Given the description of an element on the screen output the (x, y) to click on. 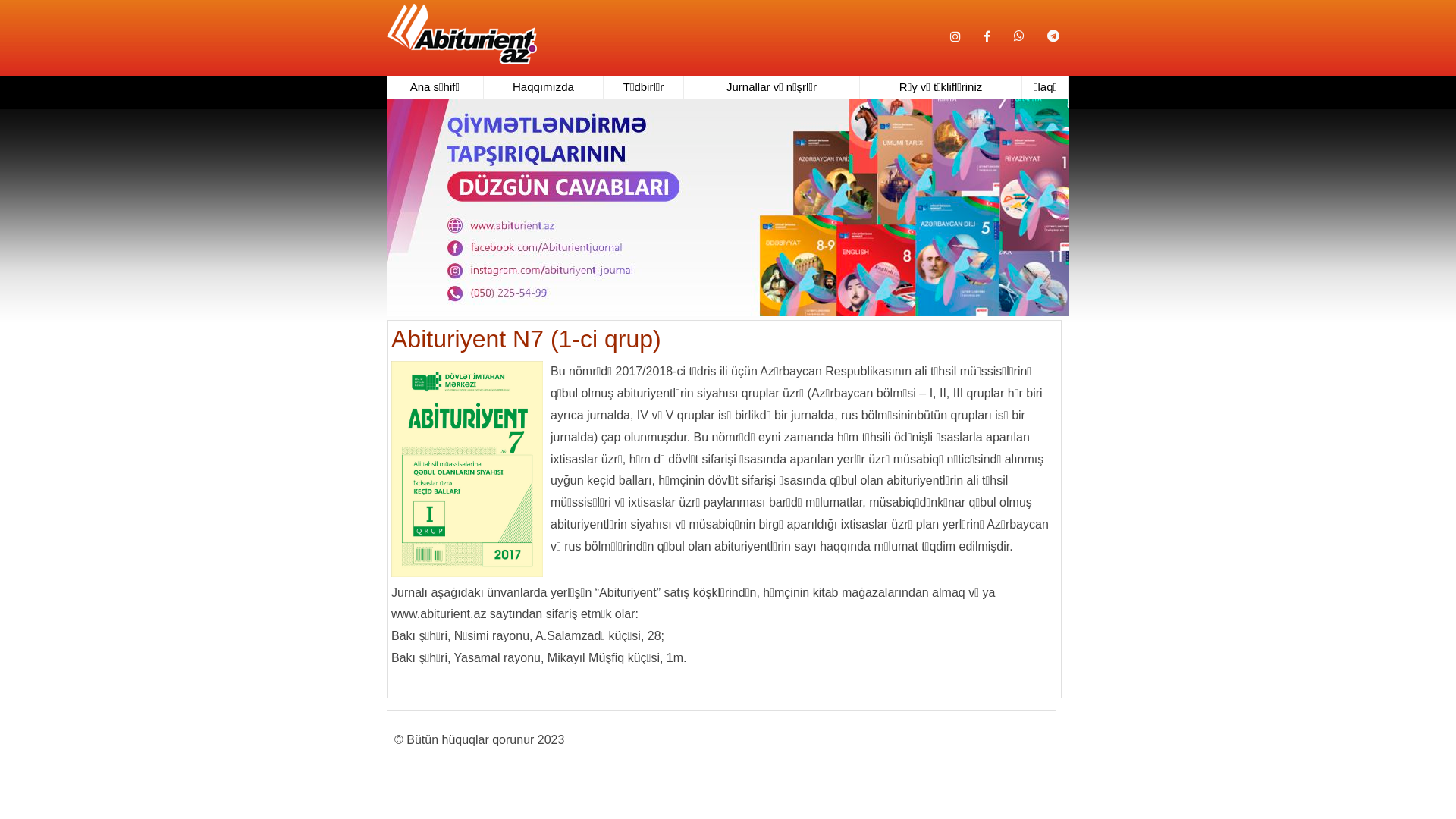
Telegram Element type: hover (1053, 25)
Instagram Element type: hover (955, 36)
Facebook Element type: hover (986, 36)
Watsapp Element type: hover (1019, 25)
